Given the description of an element on the screen output the (x, y) to click on. 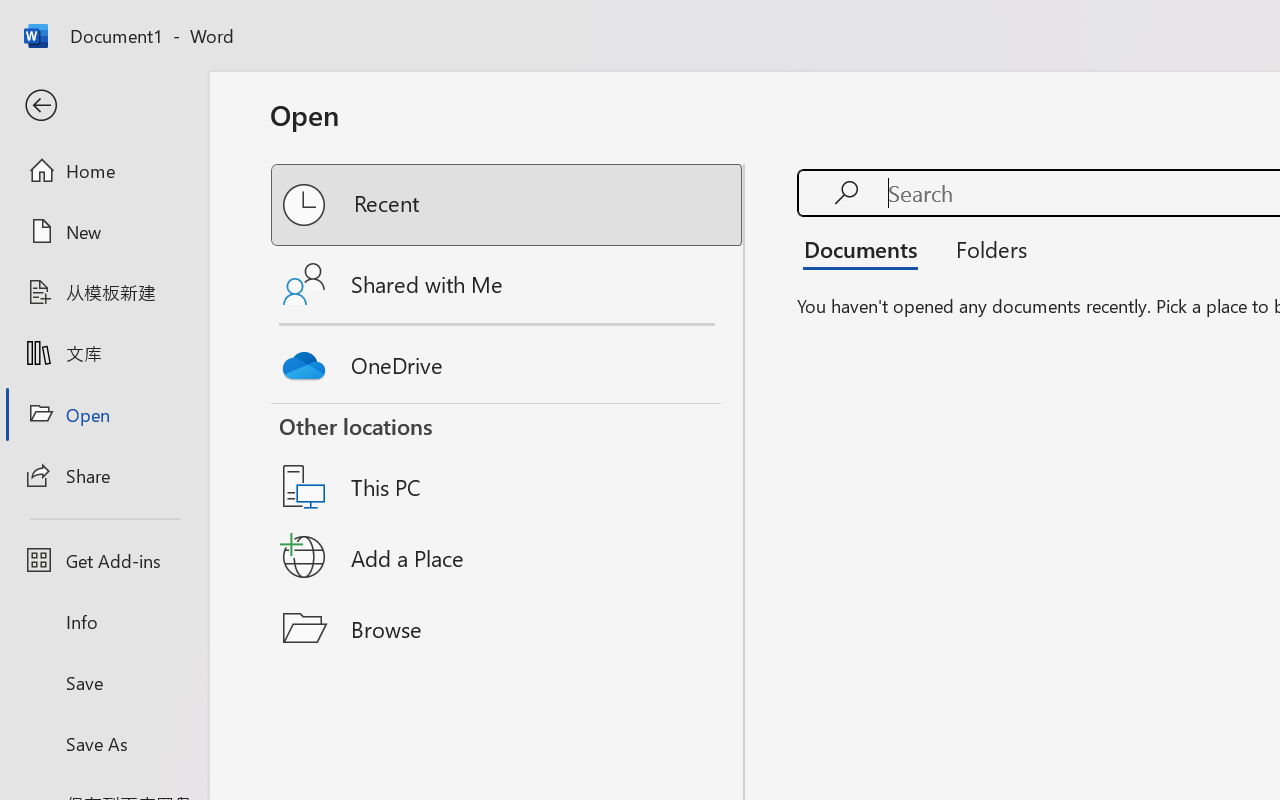
Save As (104, 743)
Recent (507, 205)
Browse (507, 627)
This PC (507, 461)
